Given the description of an element on the screen output the (x, y) to click on. 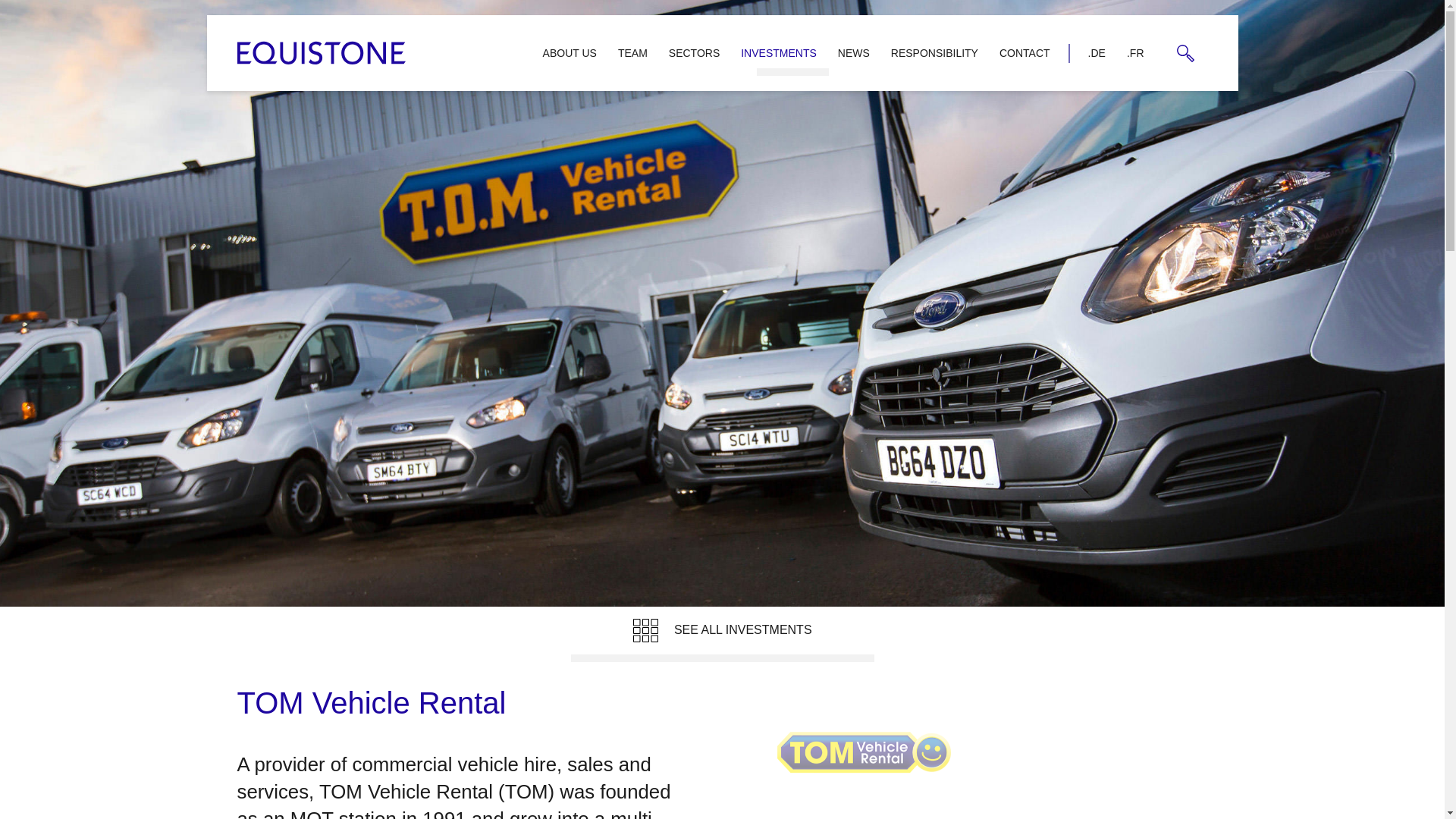
.DE (1096, 52)
SECTORS (694, 52)
RESPONSIBILITY (934, 52)
INVESTMENTS (778, 52)
CONTACT (1024, 52)
.FR (1135, 52)
NEWS (853, 52)
SEE ALL INVESTMENTS (721, 633)
ABOUT US (569, 52)
TEAM (632, 52)
